Given the description of an element on the screen output the (x, y) to click on. 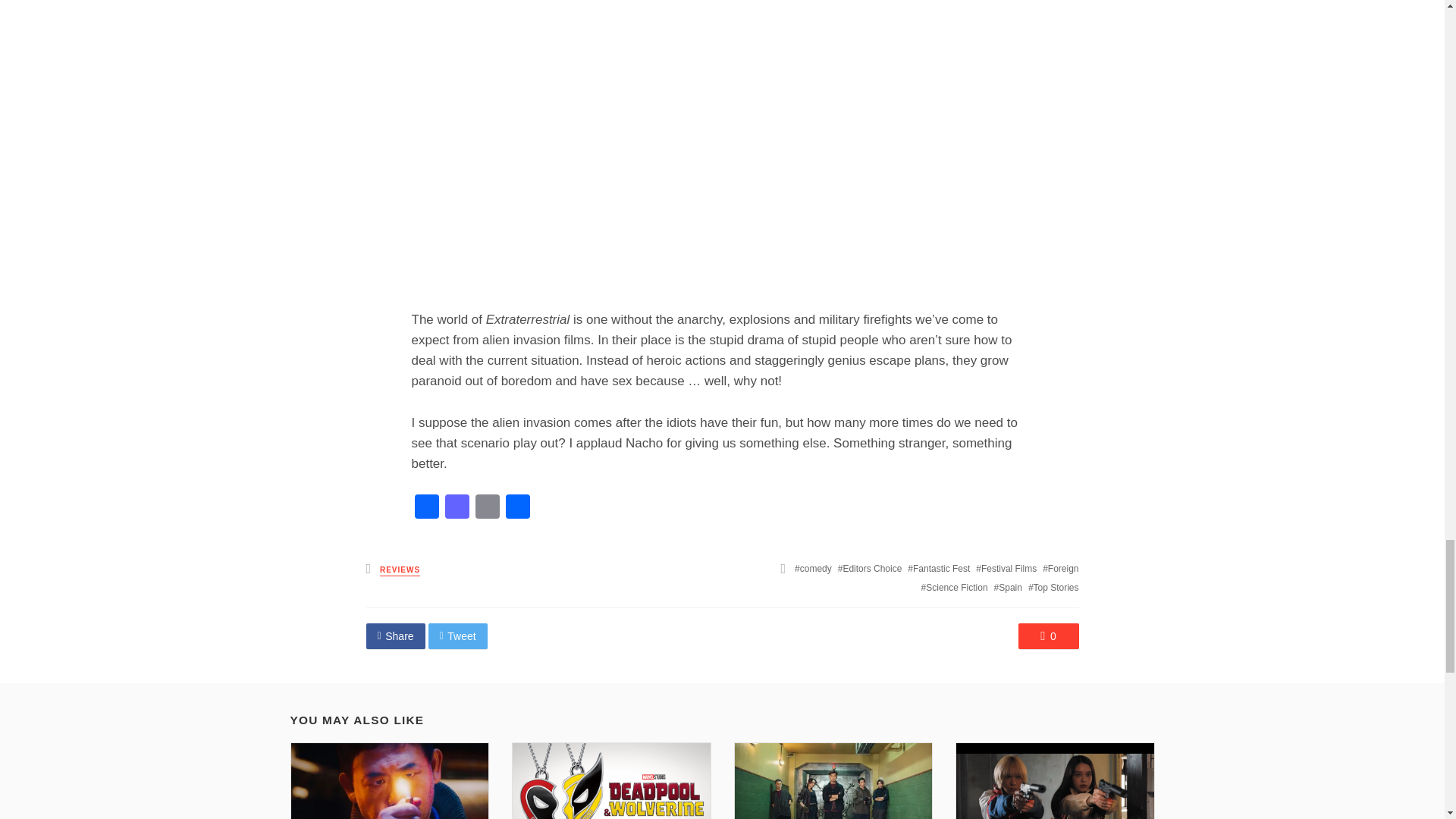
Mastodon (456, 508)
Fantastic Fest (938, 568)
Editors Choice (870, 568)
Science Fiction (954, 587)
Facebook (425, 508)
Foreign (1060, 568)
Top Stories (1052, 587)
Share (517, 508)
Spain (1008, 587)
Facebook (425, 508)
Email (486, 508)
Festival Films (1005, 568)
Email (486, 508)
REVIEWS (400, 570)
comedy (812, 568)
